Given the description of an element on the screen output the (x, y) to click on. 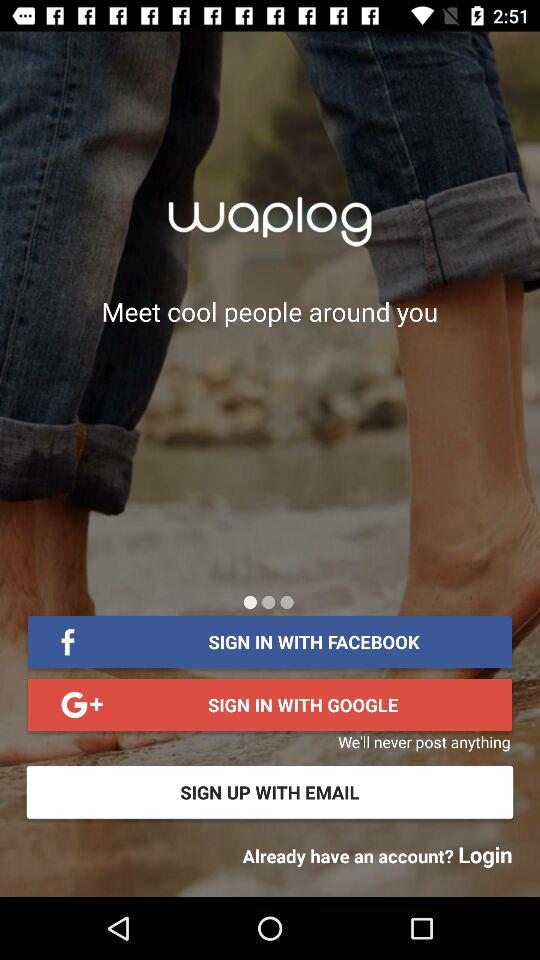
open already have an item (377, 854)
